Given the description of an element on the screen output the (x, y) to click on. 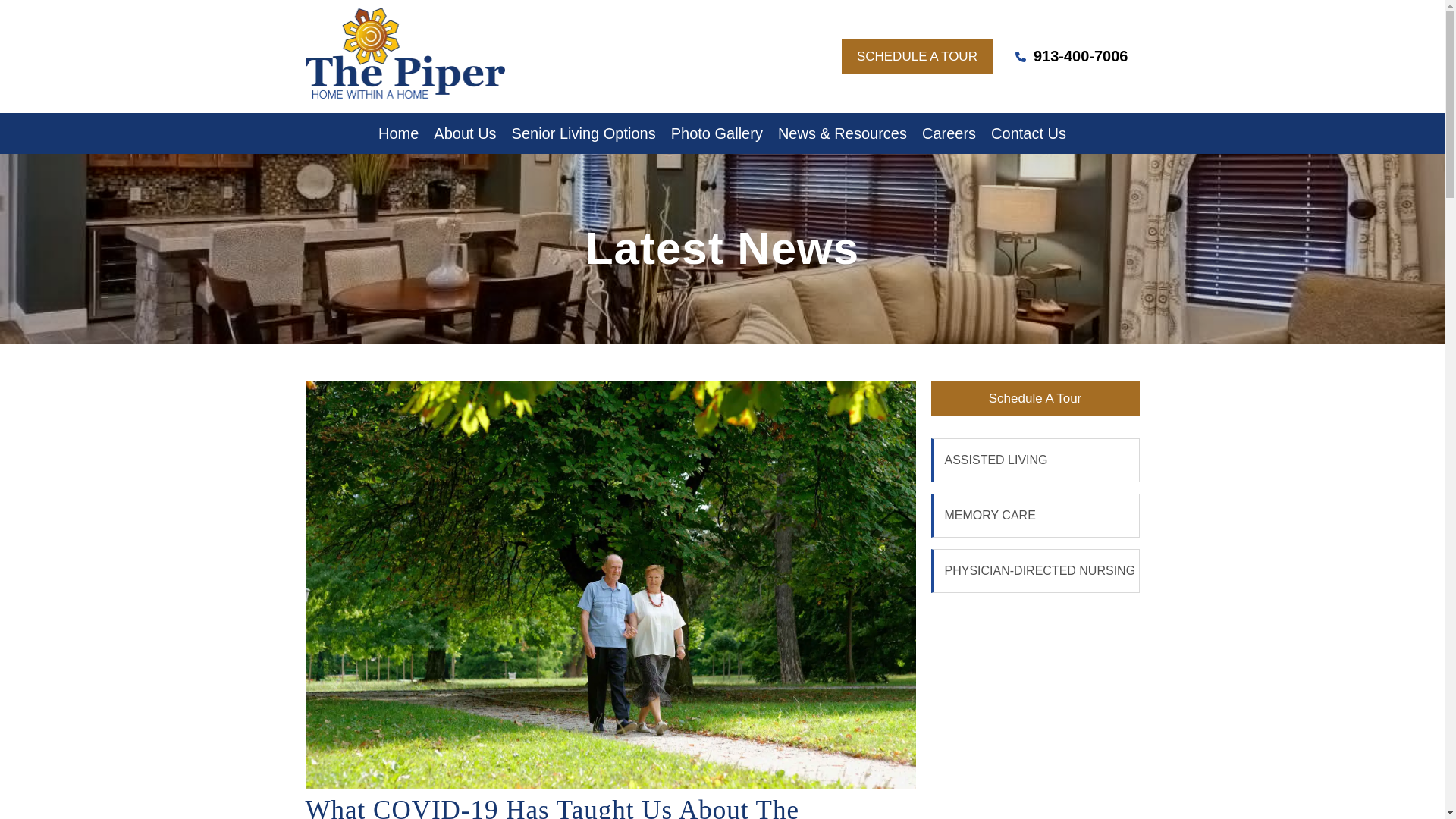
Home (398, 133)
SCHEDULE A TOUR (916, 56)
ASSISTED LIVING (1035, 460)
Schedule A Tour (1035, 398)
Careers (949, 133)
913-400-7006 (1071, 56)
Senior Living Options (583, 133)
Contact Us (1029, 133)
MEMORY CARE (1035, 515)
Photo Gallery (716, 133)
